Given the description of an element on the screen output the (x, y) to click on. 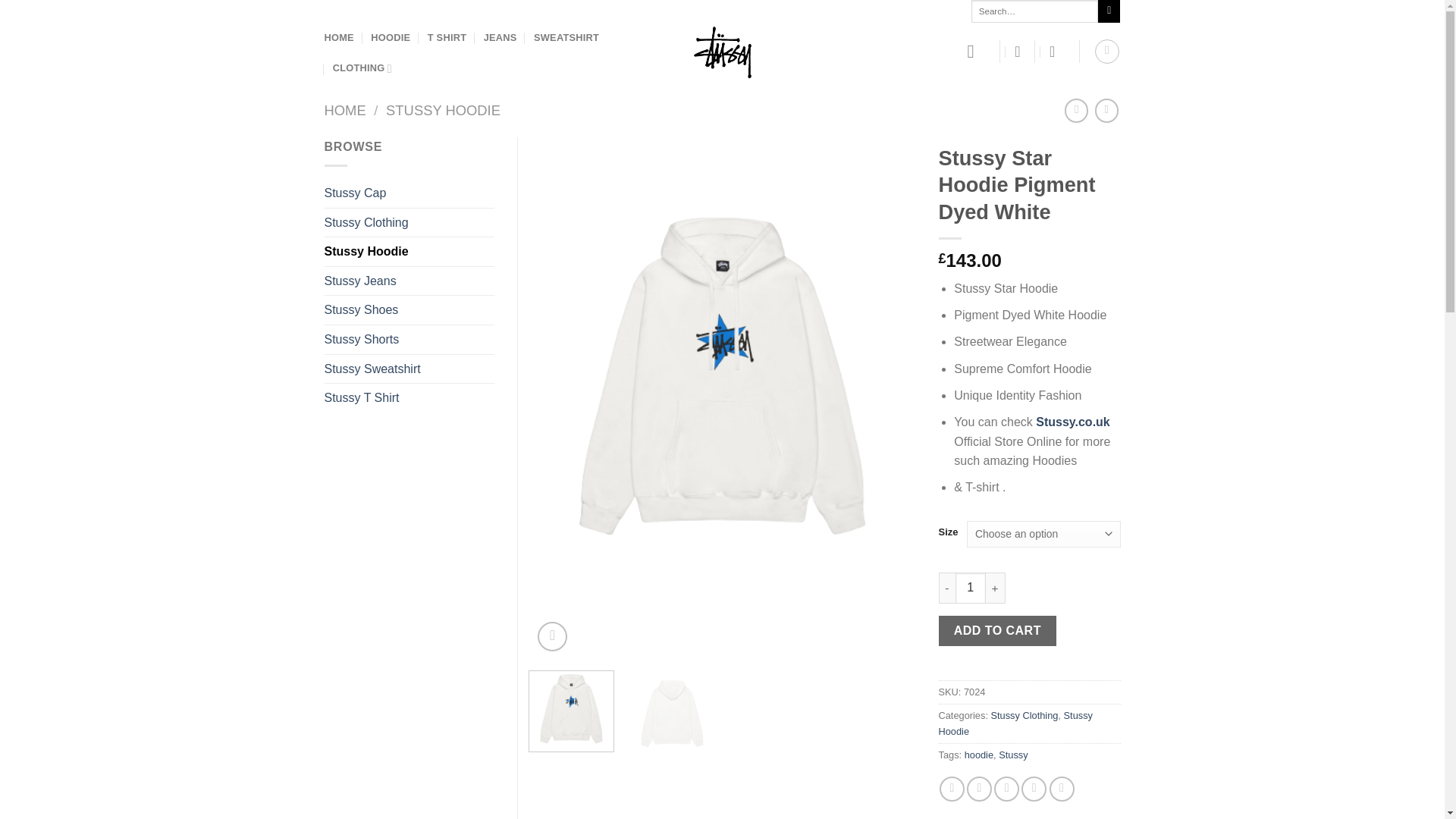
Cart (1056, 51)
HOME (345, 109)
SWEATSHIRT (566, 37)
HOME (338, 37)
JEANS (499, 37)
1 (970, 587)
Share on Facebook (951, 788)
T SHIRT (447, 37)
ADD TO CART (998, 630)
Pin on Pinterest (1034, 788)
Qty (970, 587)
- (947, 587)
Stussy.co.uk (1072, 421)
Search (1108, 11)
